Given the description of an element on the screen output the (x, y) to click on. 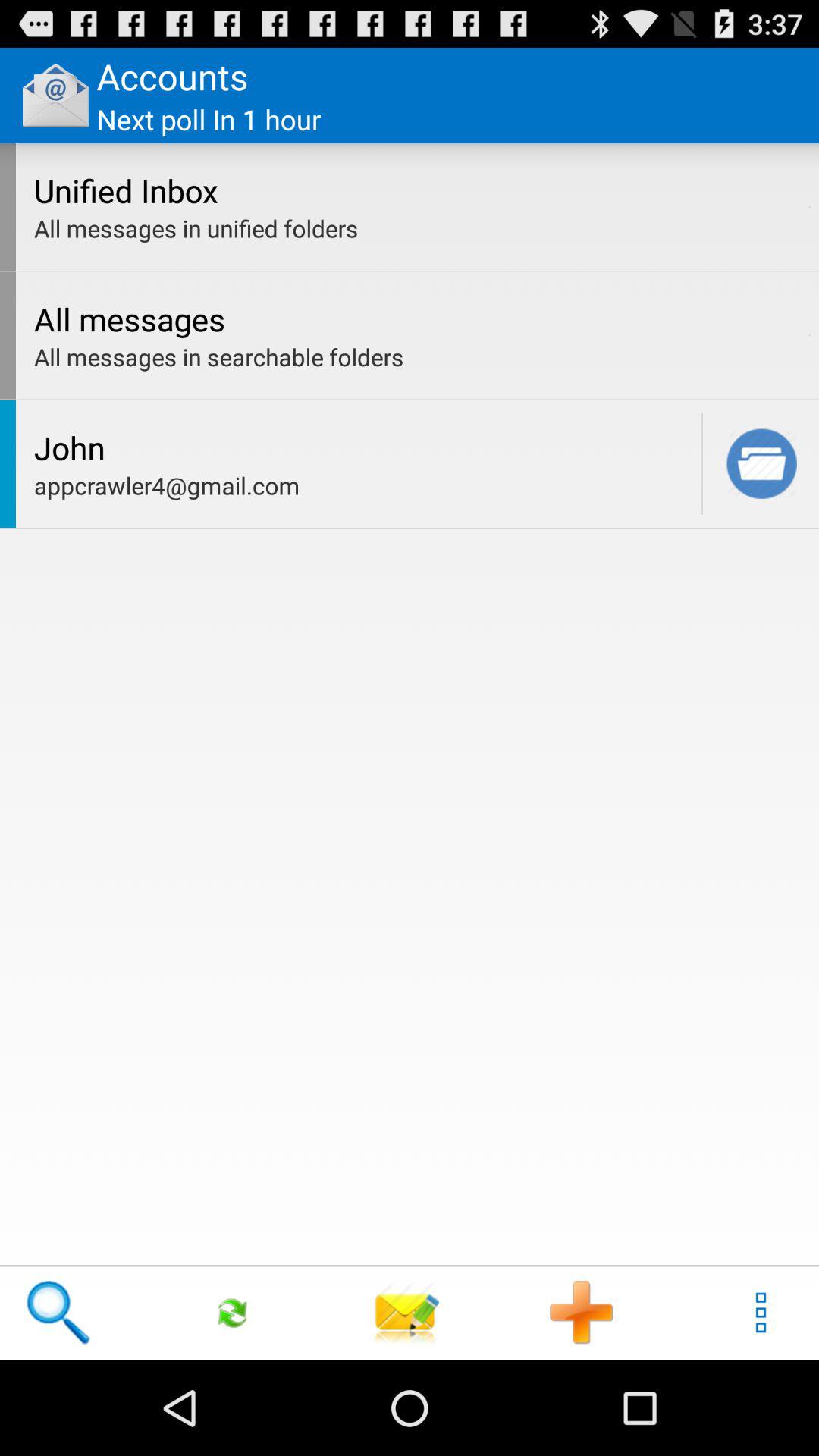
turn on the app to the right of the john app (701, 463)
